Given the description of an element on the screen output the (x, y) to click on. 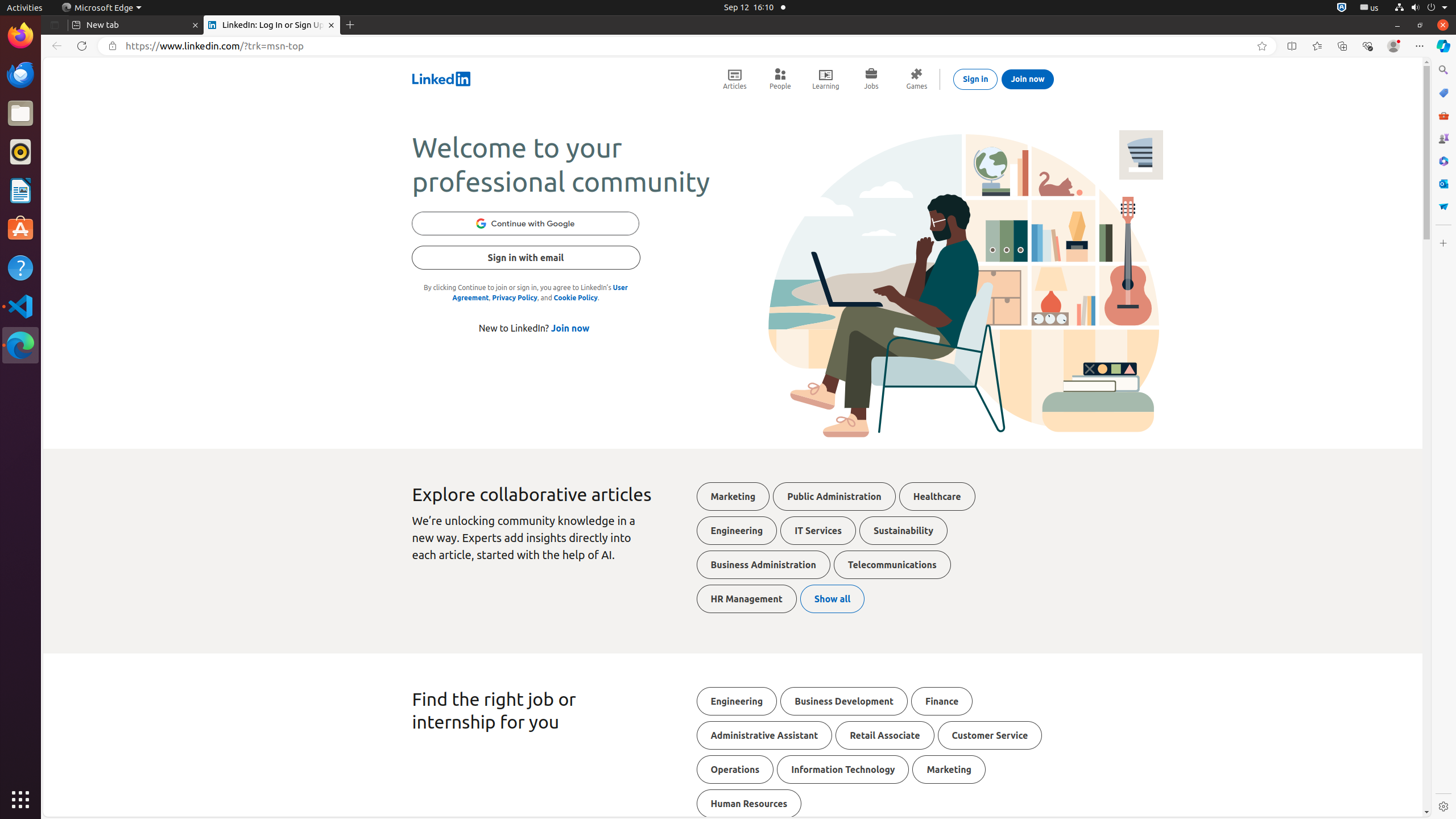
Administrative Assistant Element type: link (764, 735)
Settings and more (Alt+F) Element type: push-button (1419, 45)
Customize Element type: push-button (1443, 243)
:1.21/StatusNotifierItem Element type: menu (1369, 7)
Marketing Element type: link (732, 496)
